Given the description of an element on the screen output the (x, y) to click on. 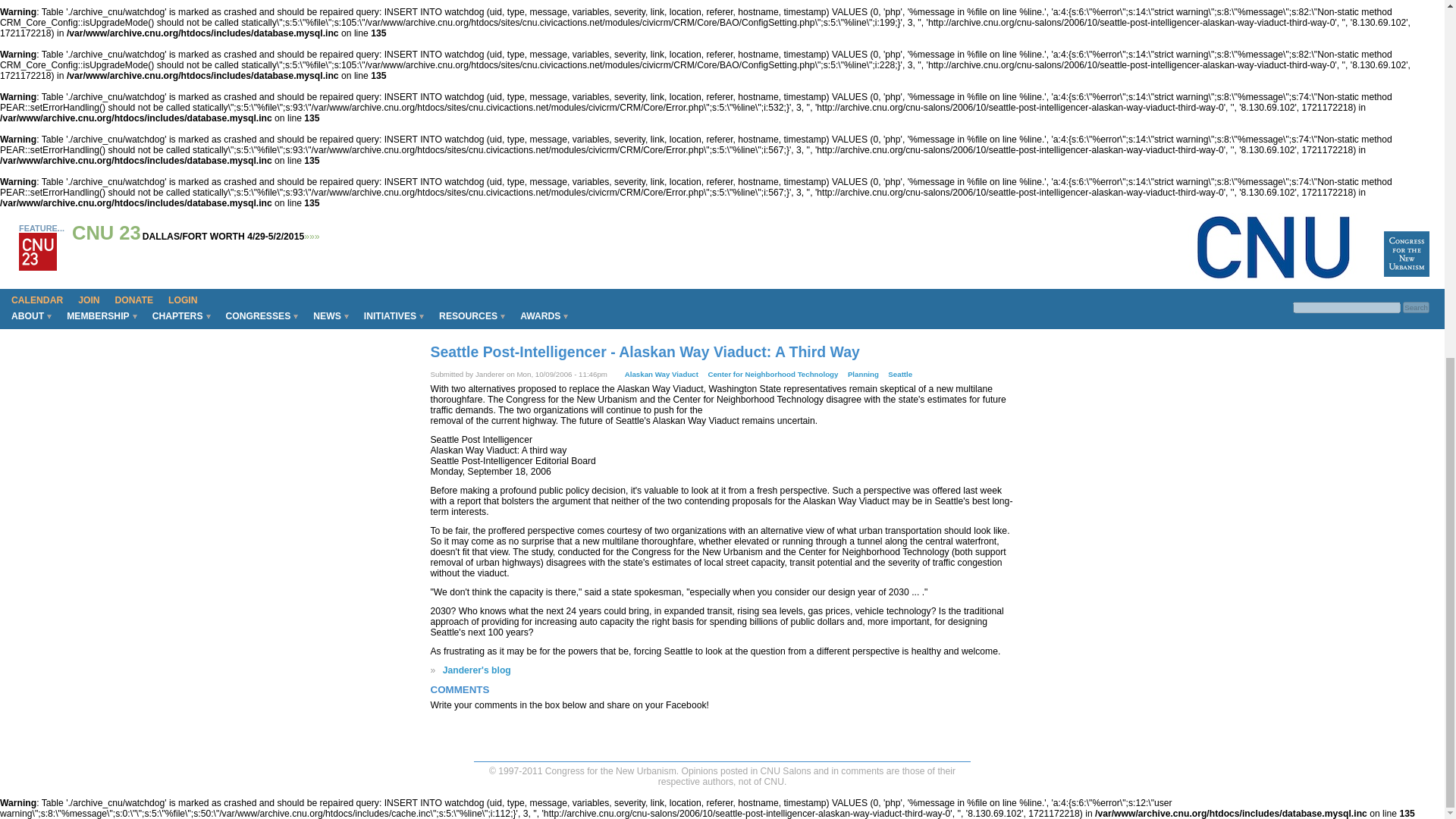
NEWS (330, 315)
Search (1416, 307)
Home (1273, 277)
CHAPTERS (181, 315)
DONATE (134, 299)
CNU 23 (106, 232)
JOIN (88, 299)
Login (183, 299)
LOGIN (183, 299)
MEMBERSHIP (100, 315)
Home (1406, 273)
Enter the terms you wish to search for. (1346, 307)
About CNU (31, 315)
Calendar (36, 299)
CALENDAR (36, 299)
